Given the description of an element on the screen output the (x, y) to click on. 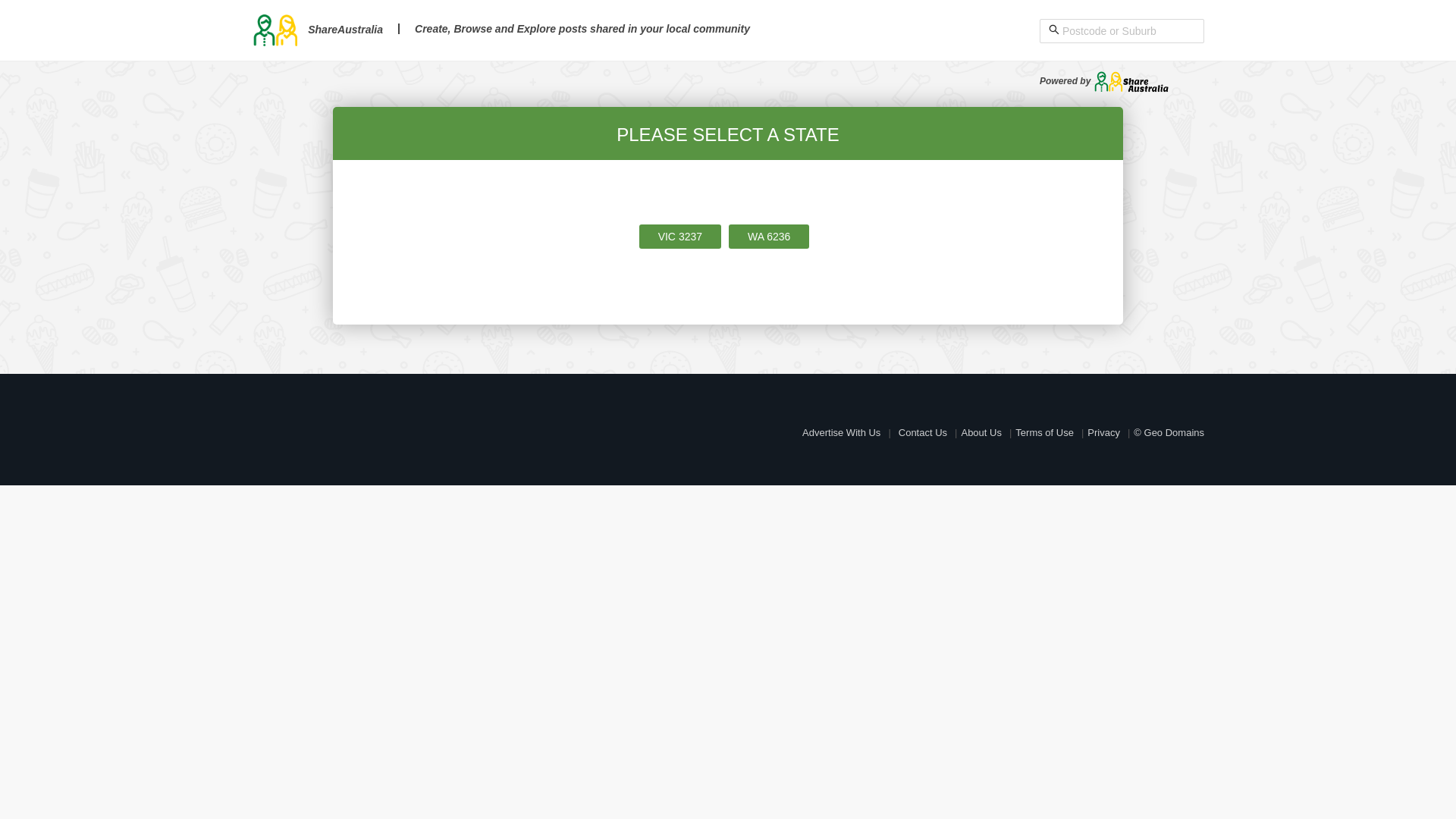
Advertise With Us Element type: text (841, 432)
About Us Element type: text (980, 432)
Terms of Use Element type: text (1044, 432)
Powered by Element type: text (1104, 80)
ShareAustralia Element type: text (316, 29)
WA 6236 Element type: text (768, 236)
Contact Us Element type: text (922, 432)
VIC 3237 Element type: text (680, 236)
Privacy Element type: text (1103, 432)
